Given the description of an element on the screen output the (x, y) to click on. 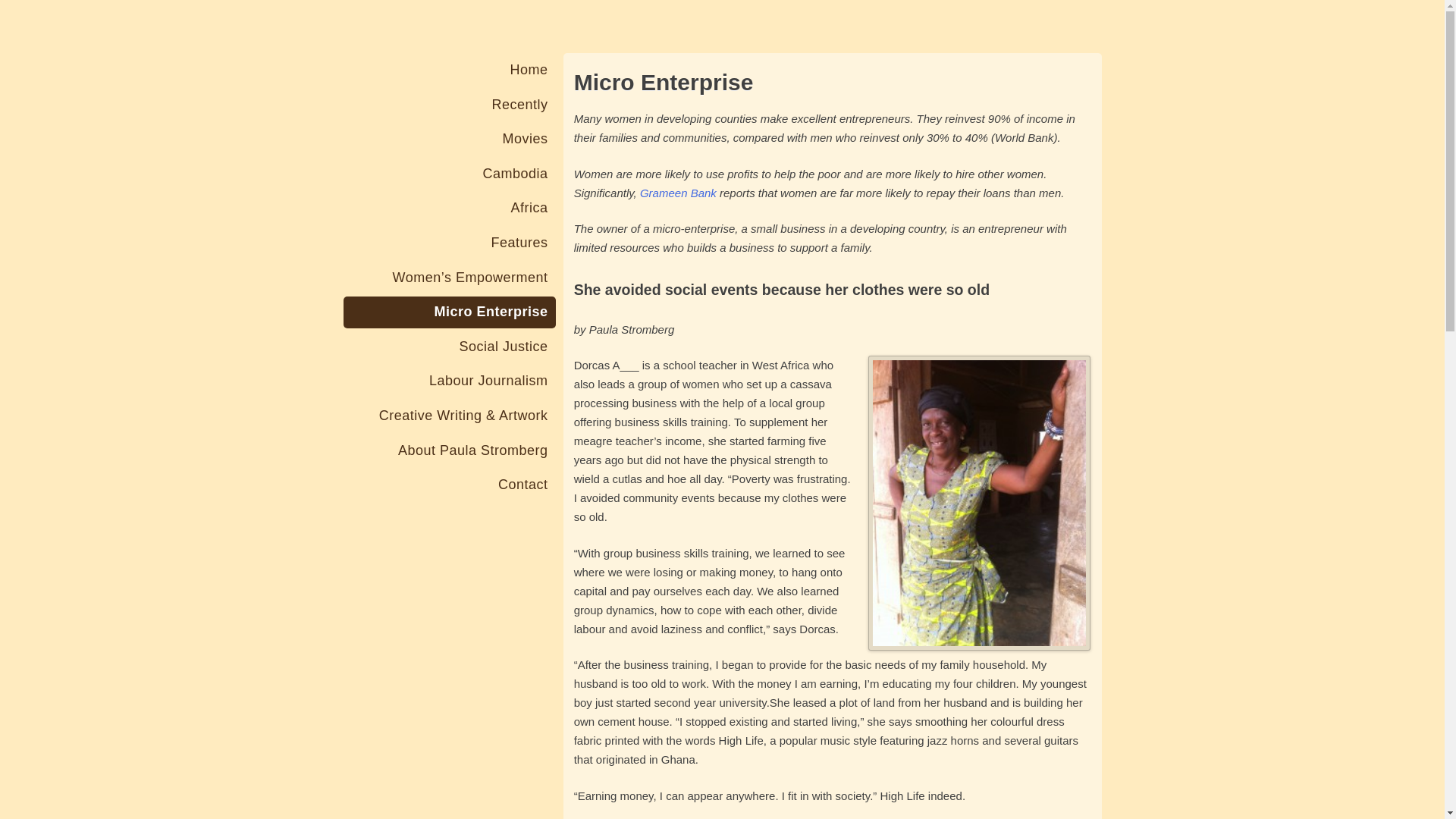
Recently (448, 105)
Home (448, 70)
Features (448, 243)
Movies (448, 139)
Micro Enterprise (448, 312)
Grameen Bank (678, 192)
Cambodia (448, 174)
About Paula Stromberg (448, 450)
Contact (448, 485)
Labour Journalism (448, 381)
